Given the description of an element on the screen output the (x, y) to click on. 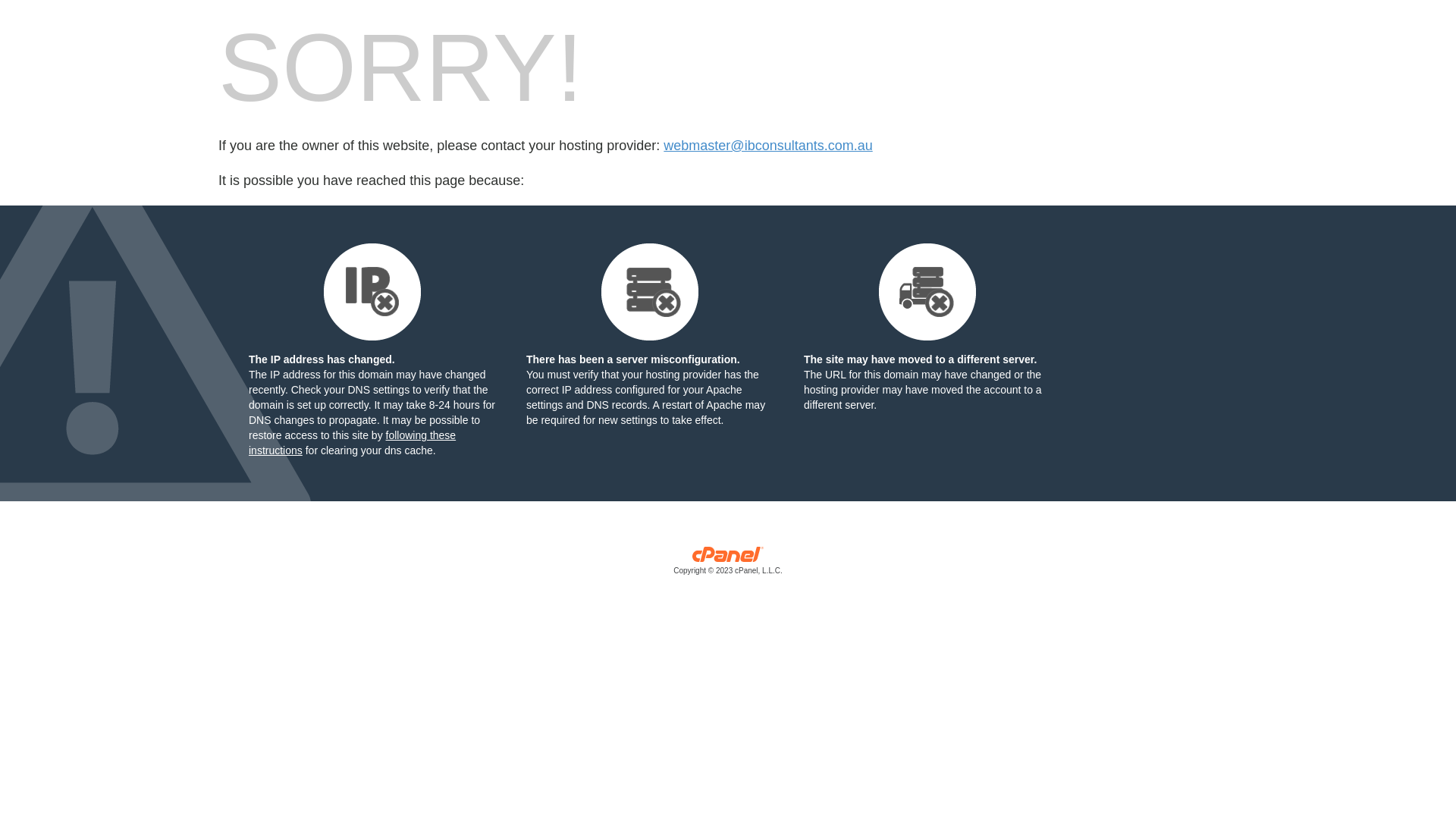
following these instructions Element type: text (351, 442)
webmaster@ibconsultants.com.au Element type: text (767, 145)
